Given the description of an element on the screen output the (x, y) to click on. 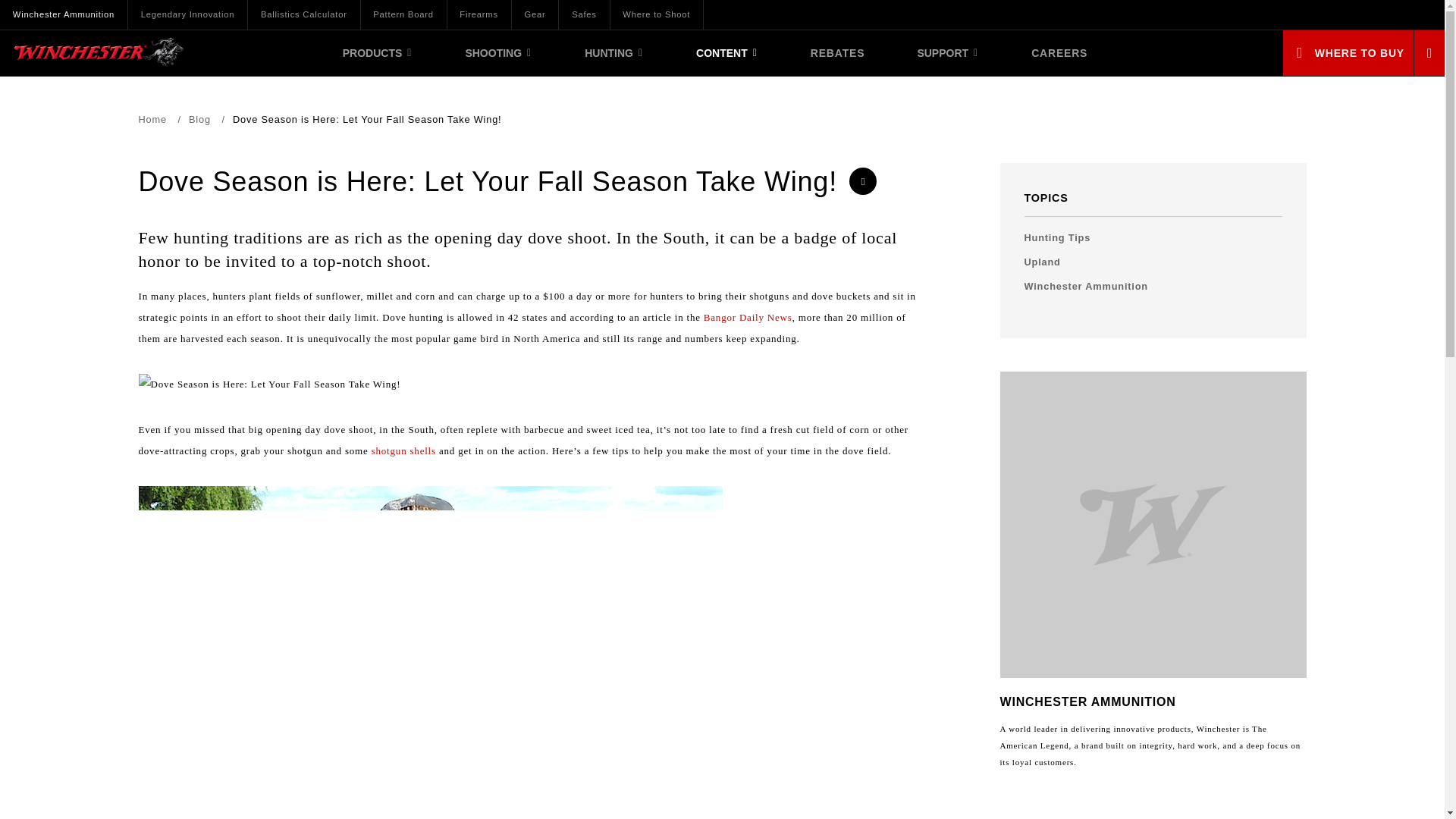
PRODUCTS (377, 53)
HUNTING (614, 53)
SHOOTING (499, 53)
Skip to main content (72, 2)
